Given the description of an element on the screen output the (x, y) to click on. 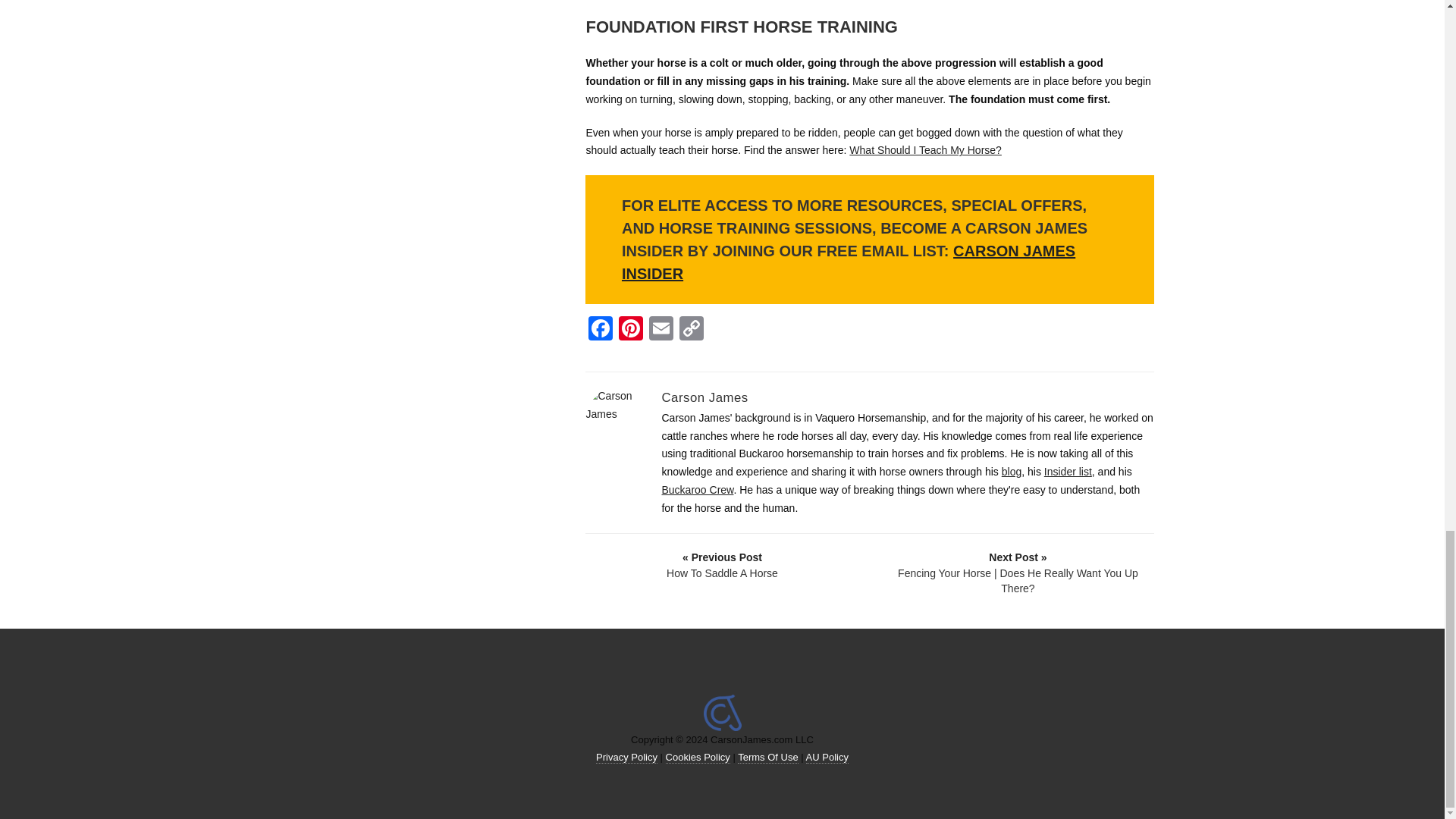
blog (1011, 471)
Facebook (600, 329)
CARSON JAMES INSIDER (848, 261)
Buckaroo Crew (697, 490)
Pinterest (630, 329)
Copy Link (691, 329)
What Should I Teach My Horse? (924, 150)
Copy Link (691, 329)
Carson James (704, 397)
Email (661, 329)
Facebook (600, 329)
How To Saddle A Horse (721, 564)
Pinterest (630, 329)
Email (661, 329)
Insider list (1067, 471)
